Given the description of an element on the screen output the (x, y) to click on. 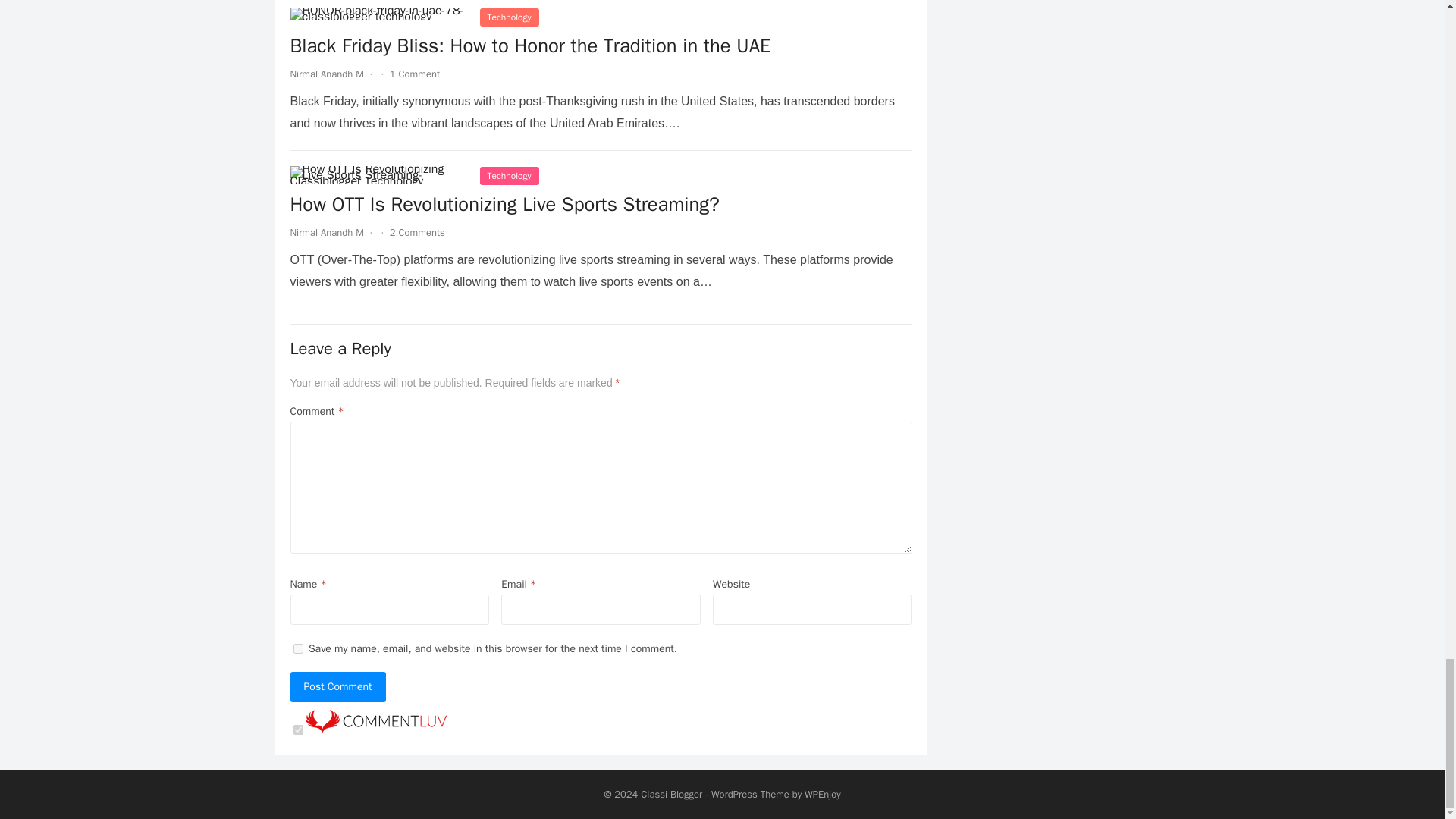
on (297, 729)
Posts by Nirmal Anandh M (325, 73)
yes (297, 648)
Posts by Nirmal Anandh M (325, 232)
Post Comment (337, 686)
